Given the description of an element on the screen output the (x, y) to click on. 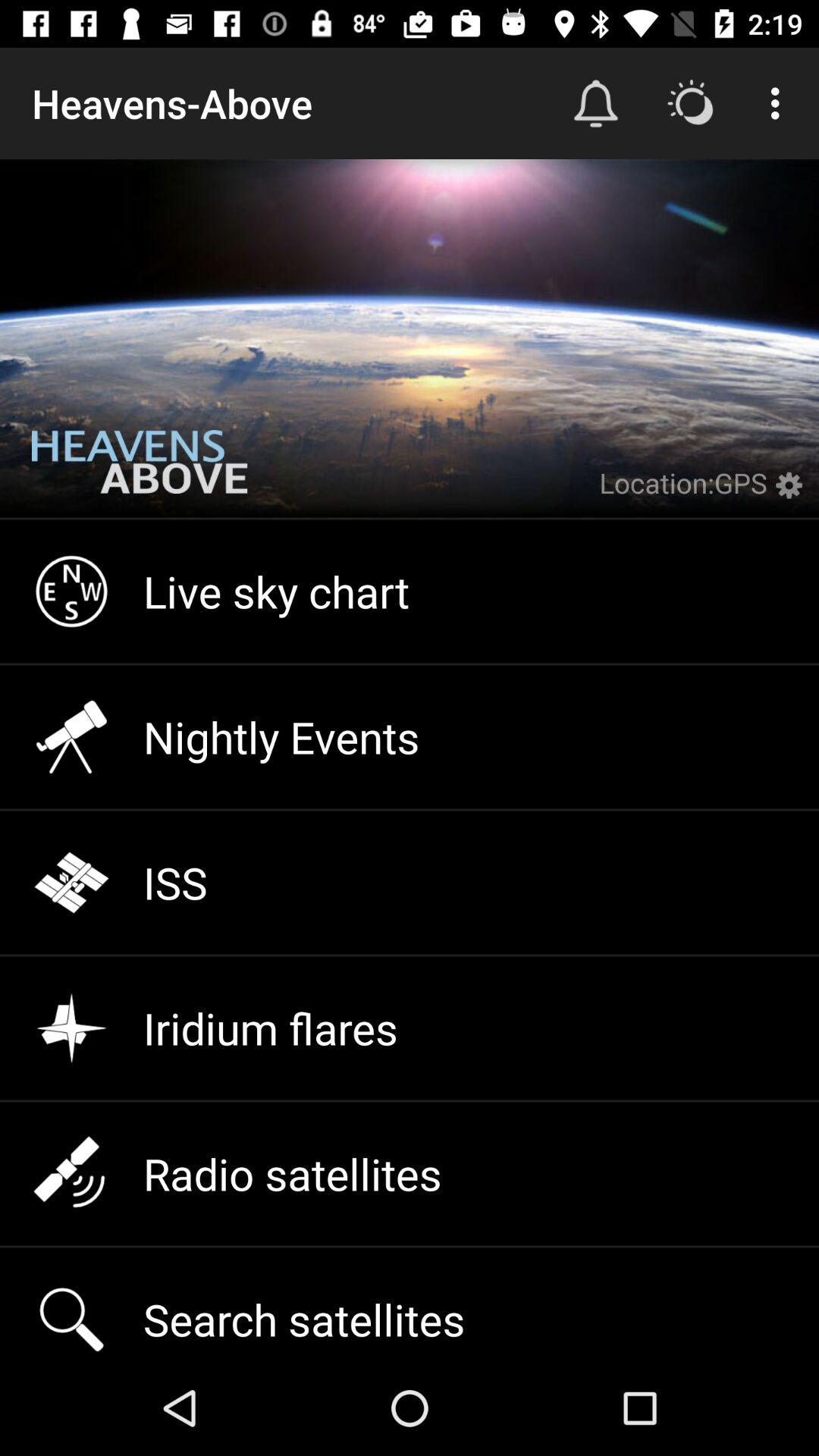
settings button (793, 494)
